Given the description of an element on the screen output the (x, y) to click on. 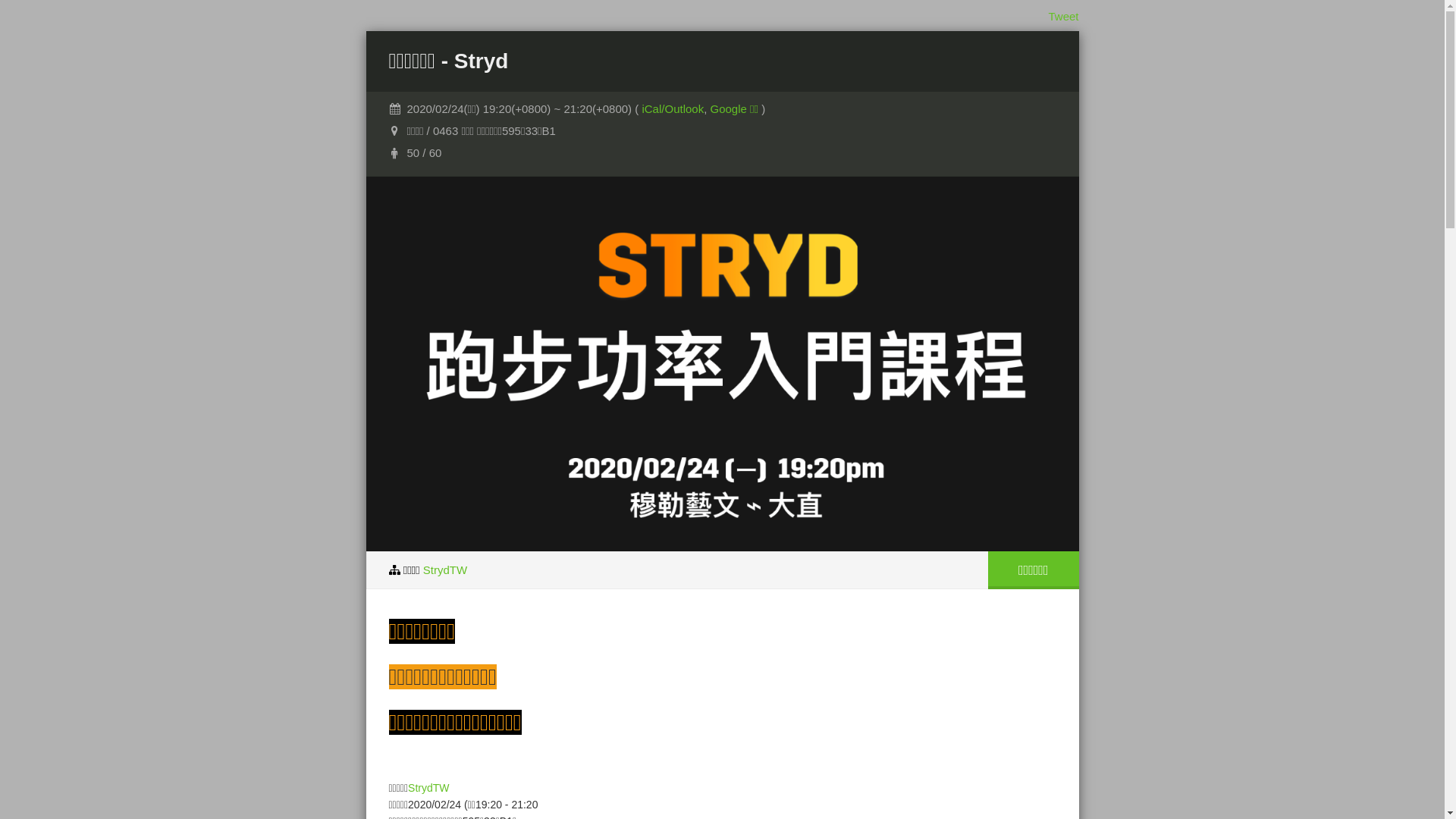
StrydTW Element type: text (427, 787)
Tweet Element type: text (1063, 15)
StrydTW Element type: text (445, 568)
iCal/Outlook Element type: text (672, 108)
